Given the description of an element on the screen output the (x, y) to click on. 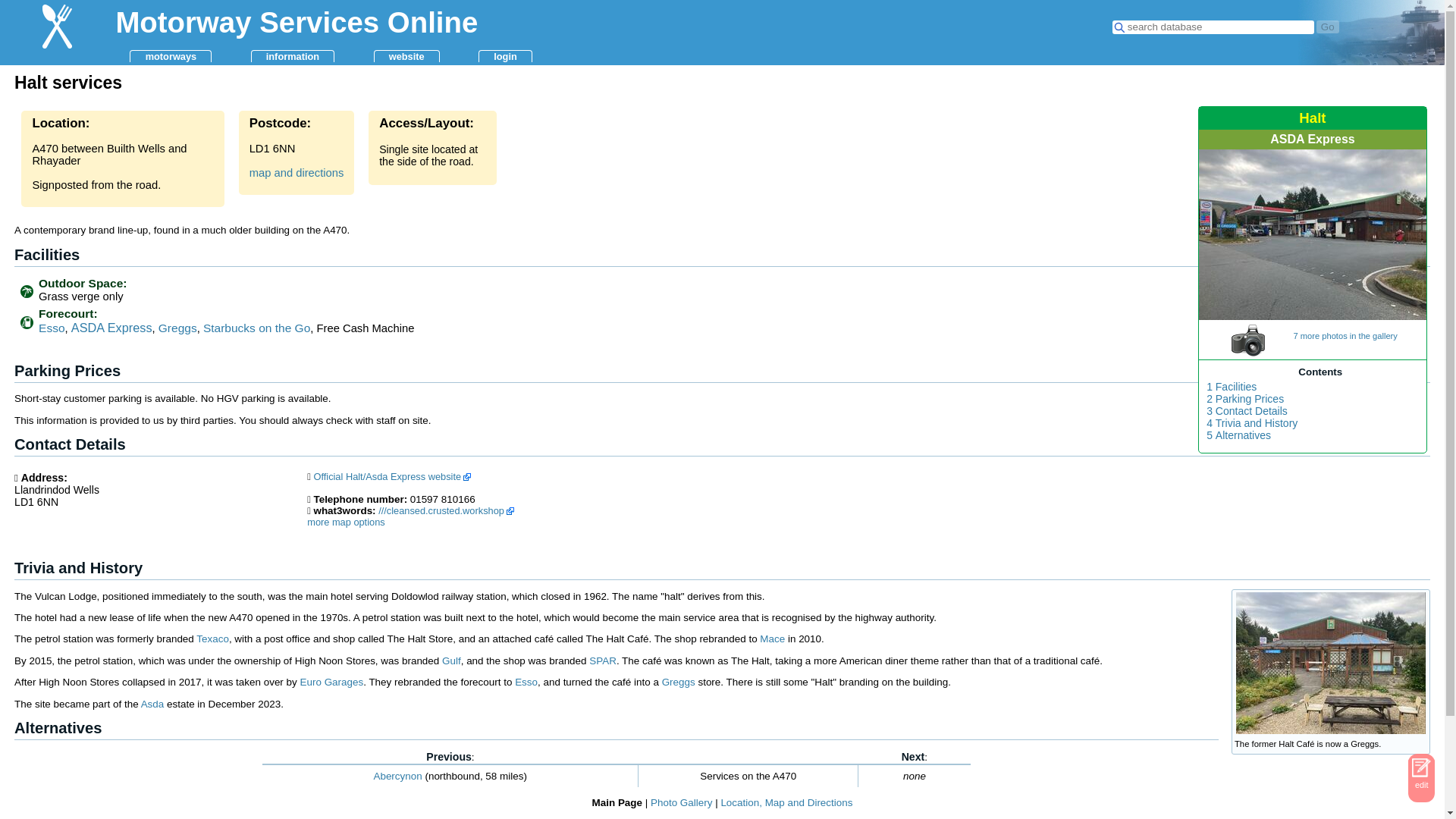
login (505, 55)
4 Trivia and History (1252, 423)
1 Facilities (1231, 387)
Go to a page with this exact name if exists (1327, 26)
2 Parking Prices (1245, 398)
Go (1327, 26)
3 Contact Details (1247, 410)
Go (1327, 26)
Go (1327, 26)
7 more photos in the gallery (1325, 330)
